Given the description of an element on the screen output the (x, y) to click on. 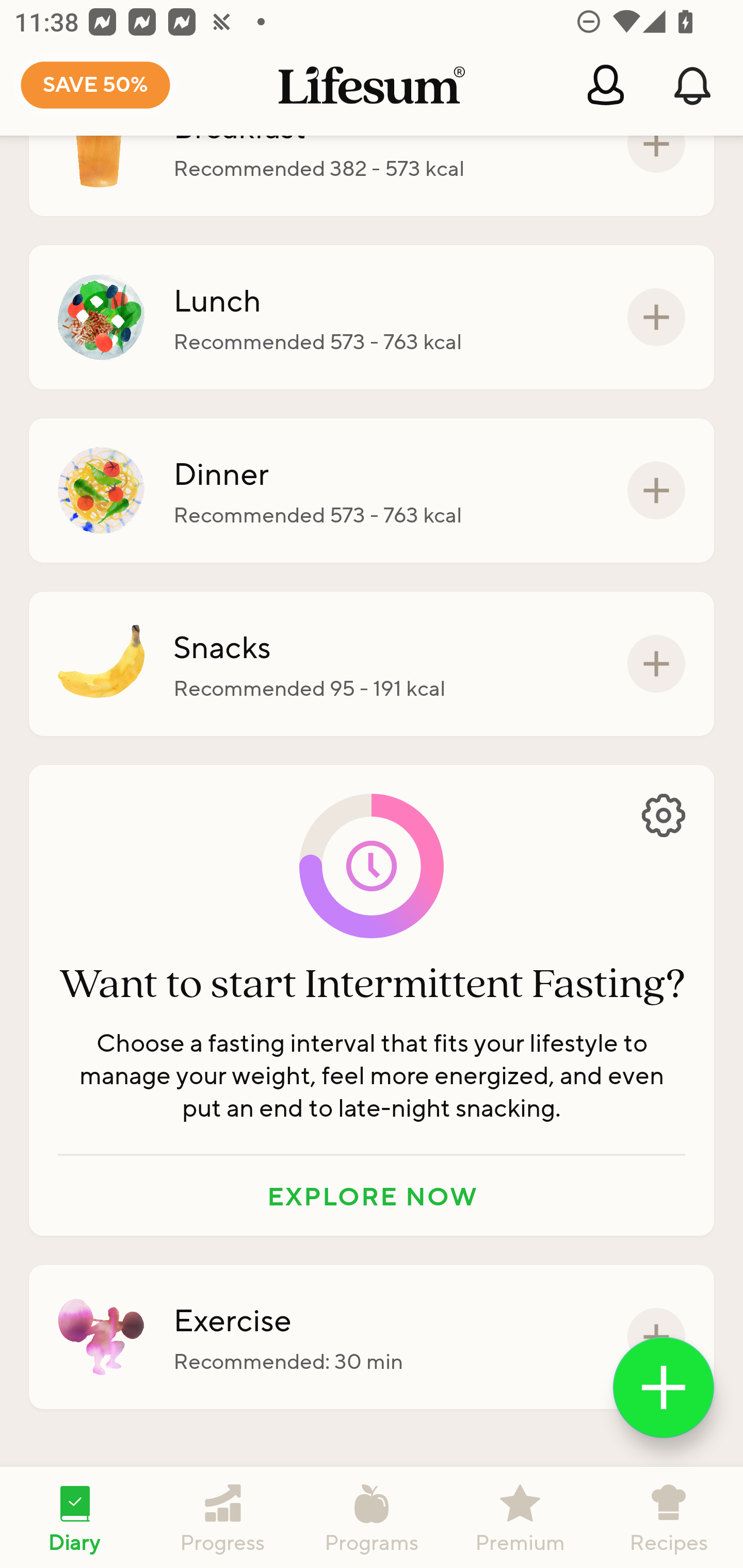
Lunch Recommended 573 - 763 kcal (371, 316)
Dinner Recommended 573 - 763 kcal (371, 490)
Snacks Recommended 95 - 191 kcal (371, 663)
EXPLORE NOW (371, 1195)
Exercise Recommended: 30 min (371, 1337)
Progress (222, 1517)
Programs (371, 1517)
Premium (519, 1517)
Recipes (668, 1517)
